Given the description of an element on the screen output the (x, y) to click on. 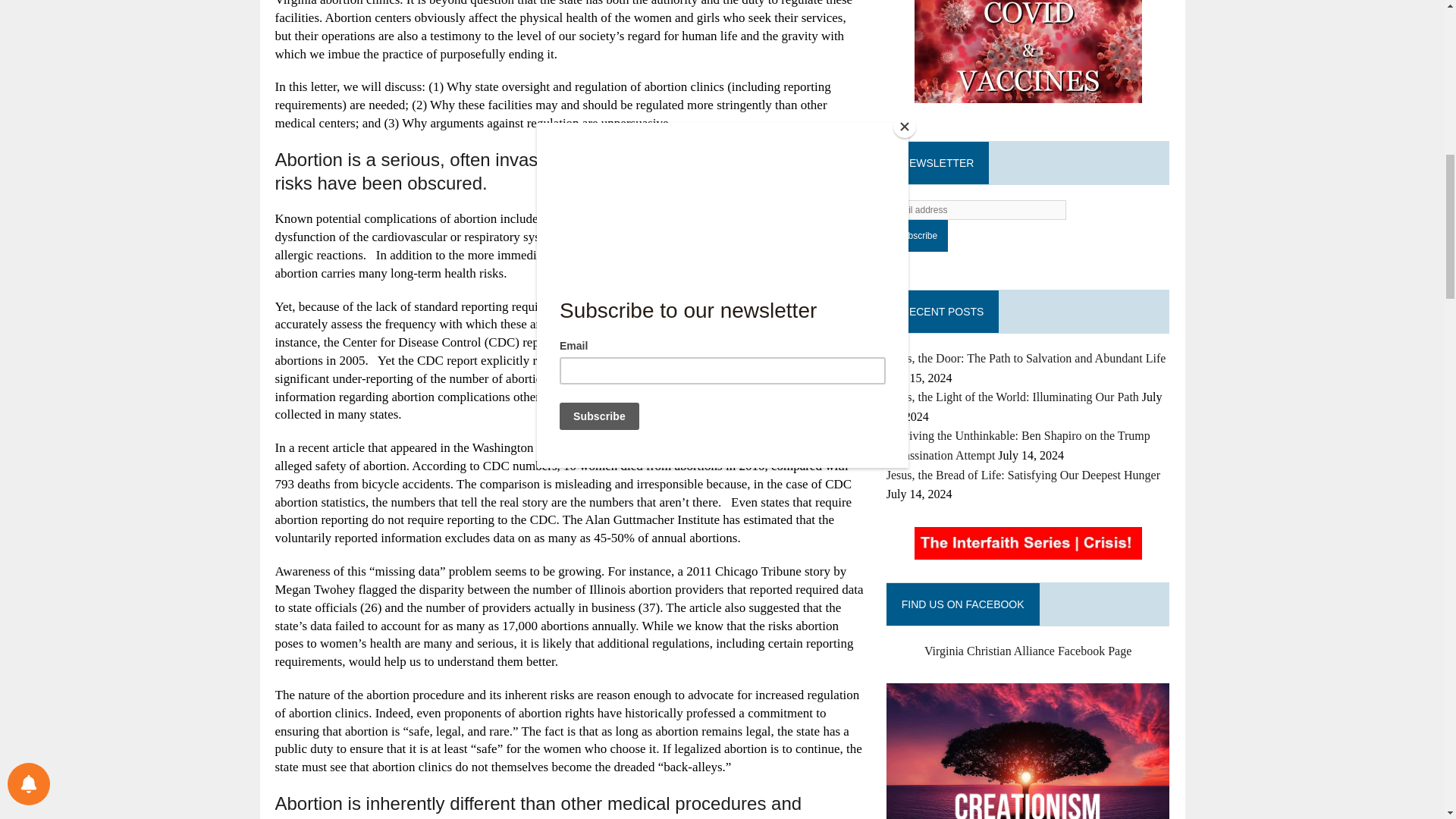
Subscribe (916, 235)
